Given the description of an element on the screen output the (x, y) to click on. 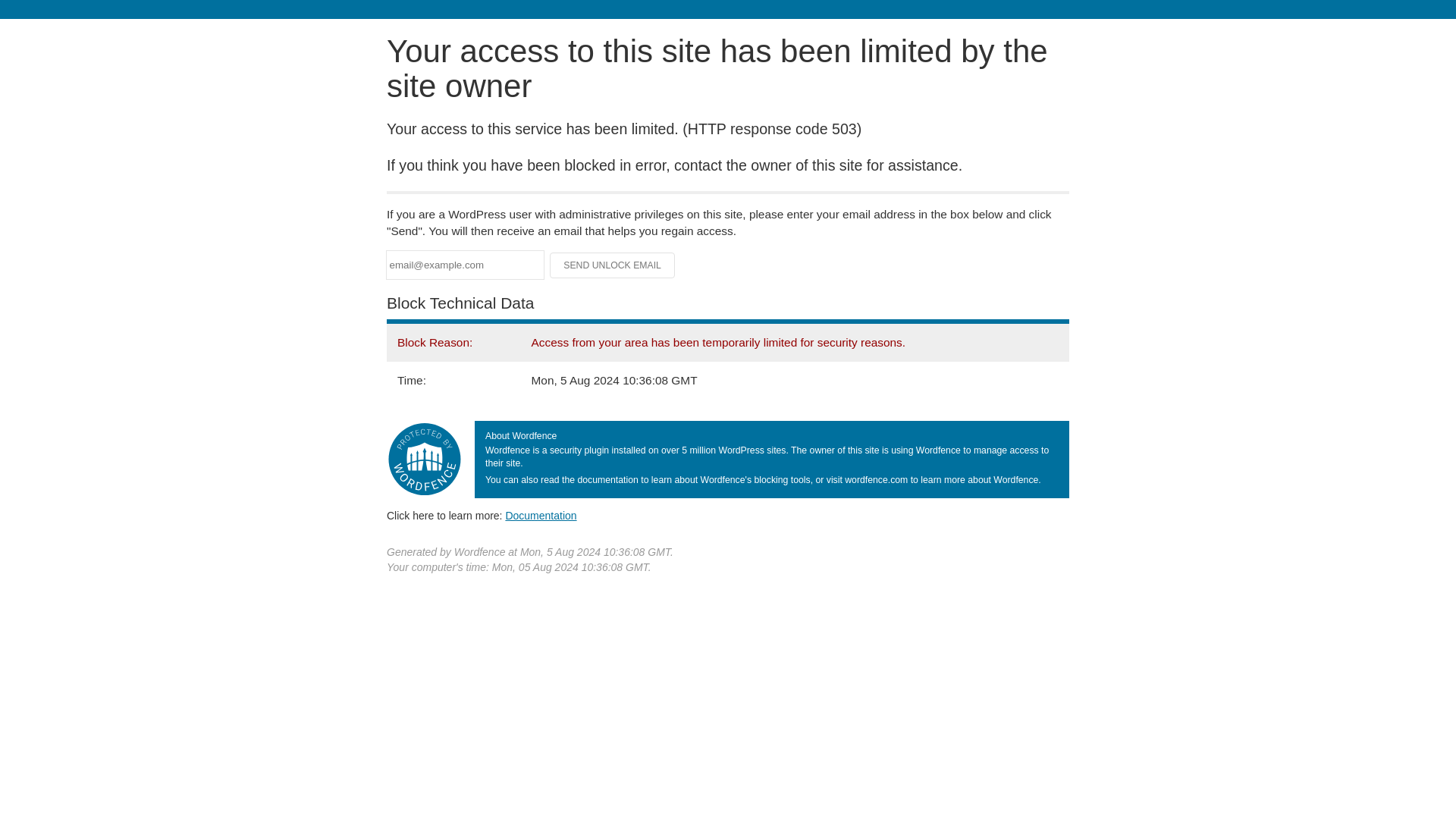
Send Unlock Email (612, 265)
Documentation (540, 515)
Send Unlock Email (612, 265)
